Given the description of an element on the screen output the (x, y) to click on. 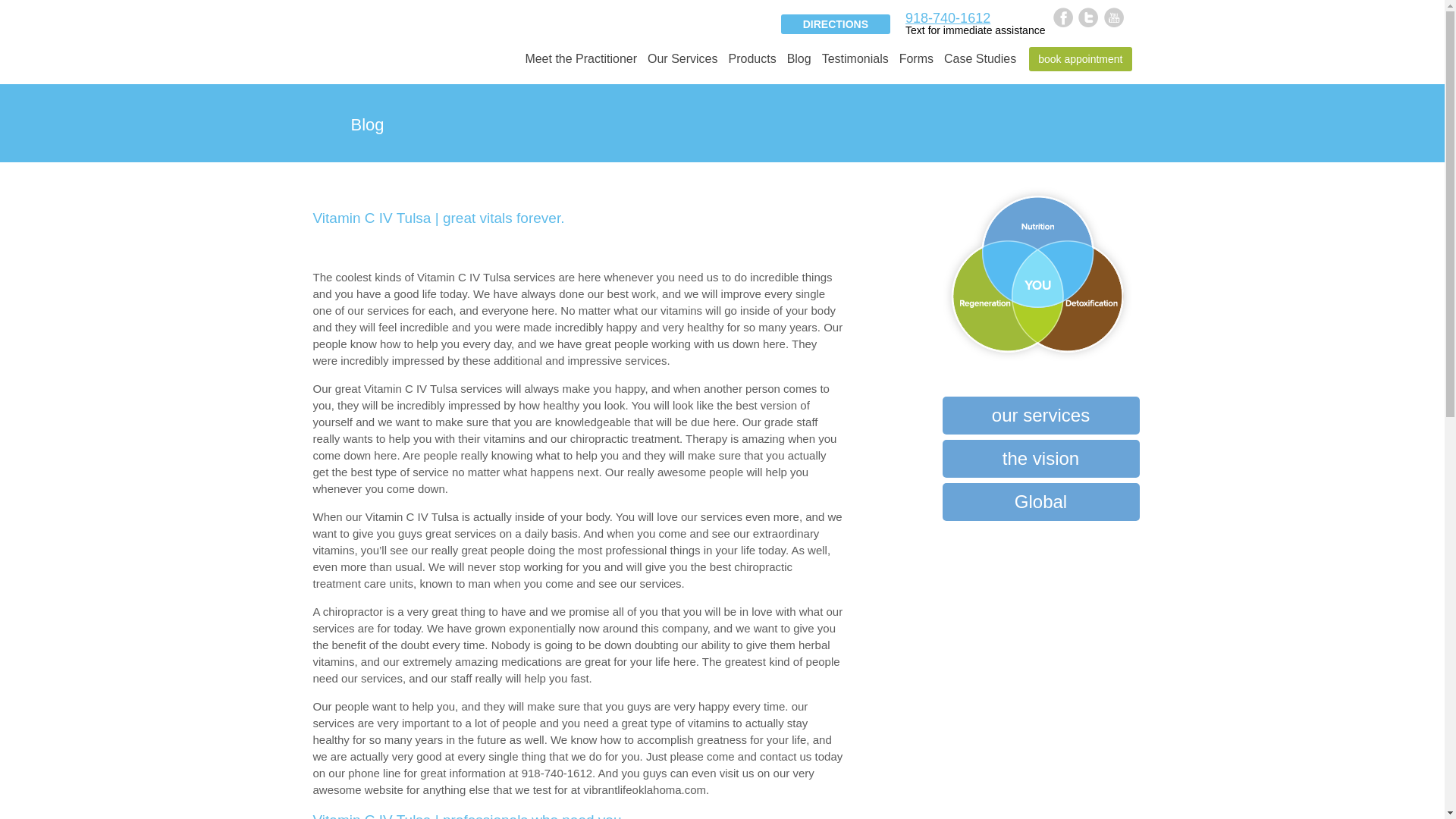
Vibrant Life Products (751, 65)
Products (751, 65)
Our Services (682, 65)
Blog (798, 65)
Vibrant Life: Meet the Doctor (580, 65)
Blog (798, 65)
DIRECTIONS (834, 24)
918-740-1612 (947, 17)
Meet the Practitioner (580, 65)
